Given the description of an element on the screen output the (x, y) to click on. 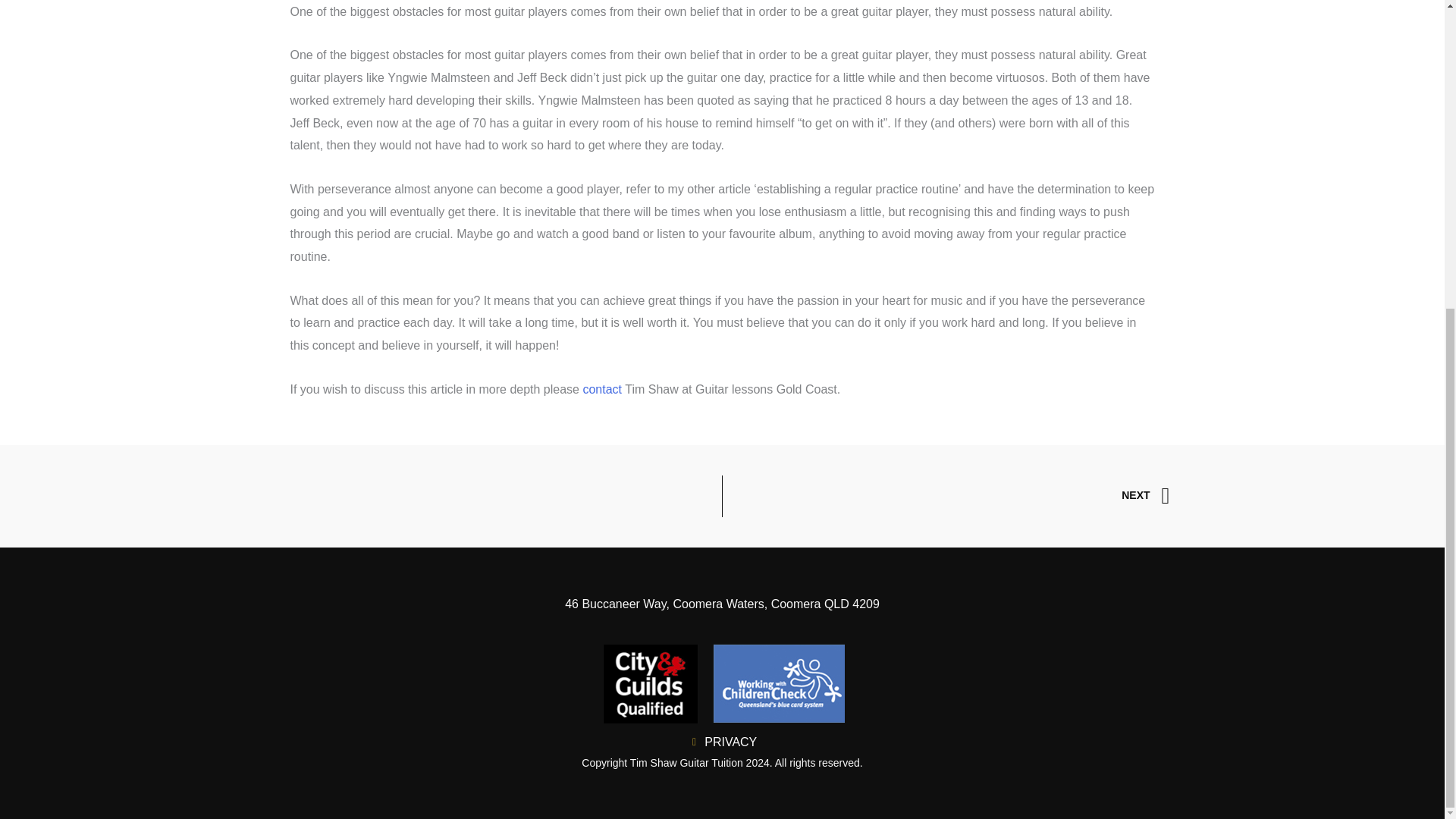
contact (601, 389)
PRIVACY (946, 496)
